Given the description of an element on the screen output the (x, y) to click on. 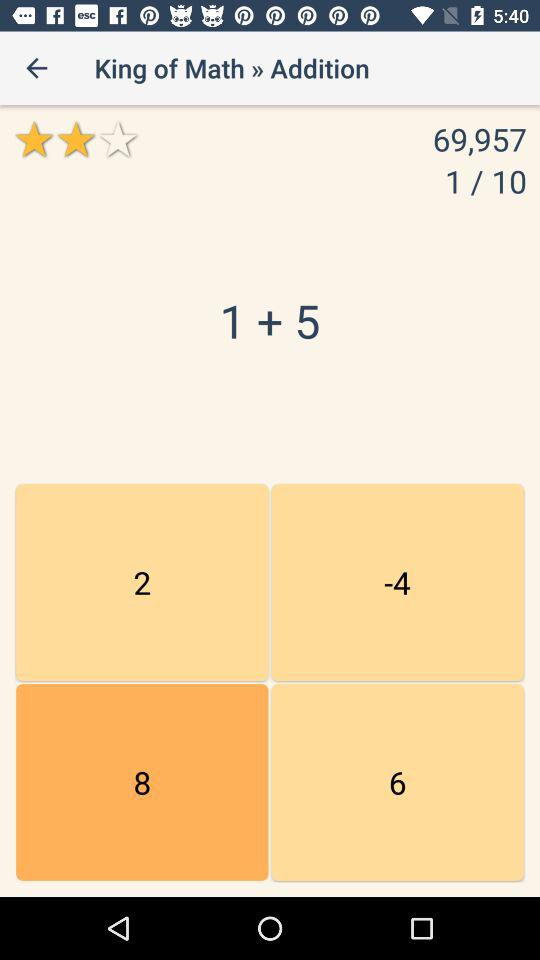
choose icon above 19 (397, 582)
